Given the description of an element on the screen output the (x, y) to click on. 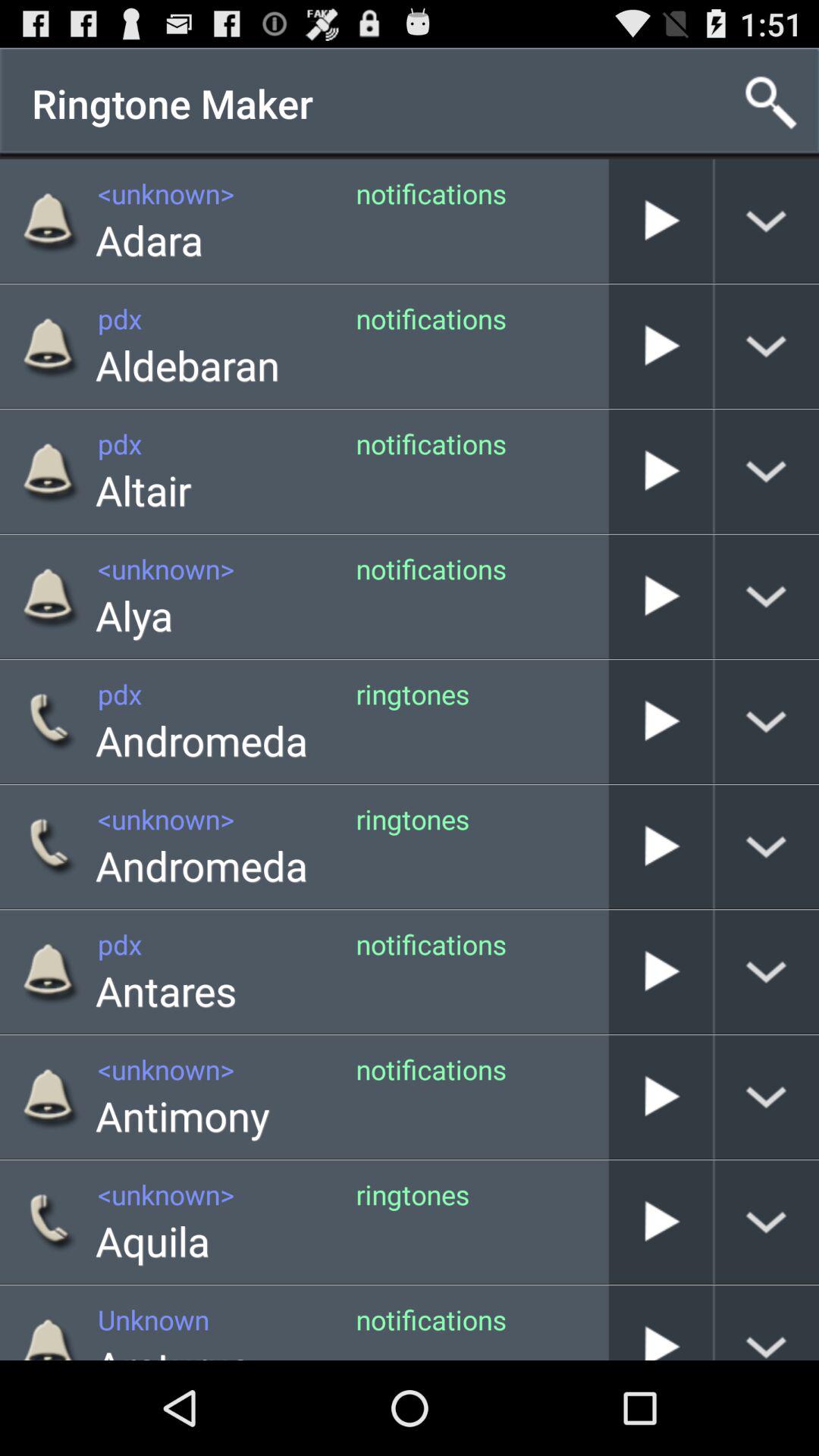
play selection (660, 971)
